Given the description of an element on the screen output the (x, y) to click on. 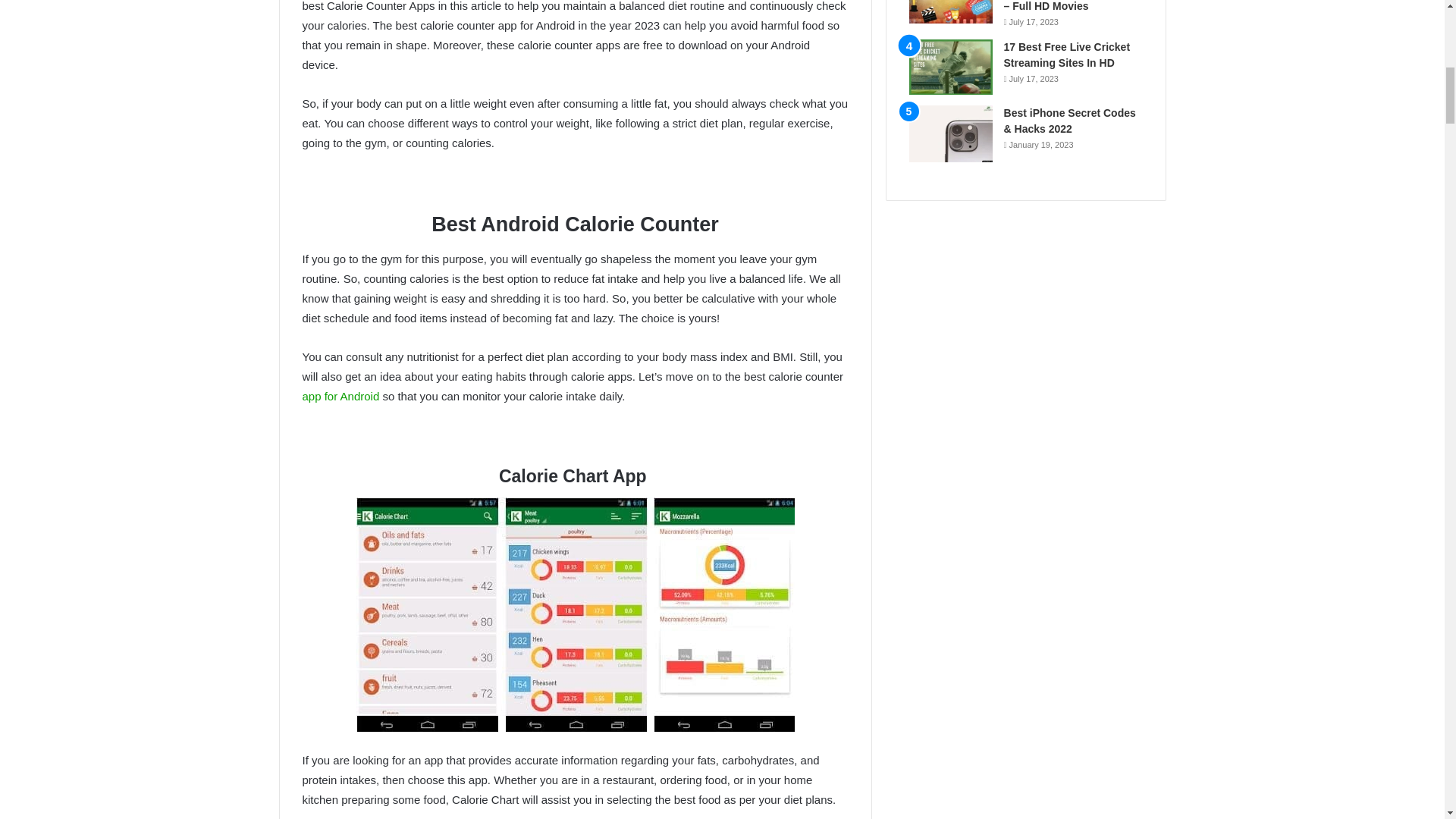
app for Android (339, 395)
